Given the description of an element on the screen output the (x, y) to click on. 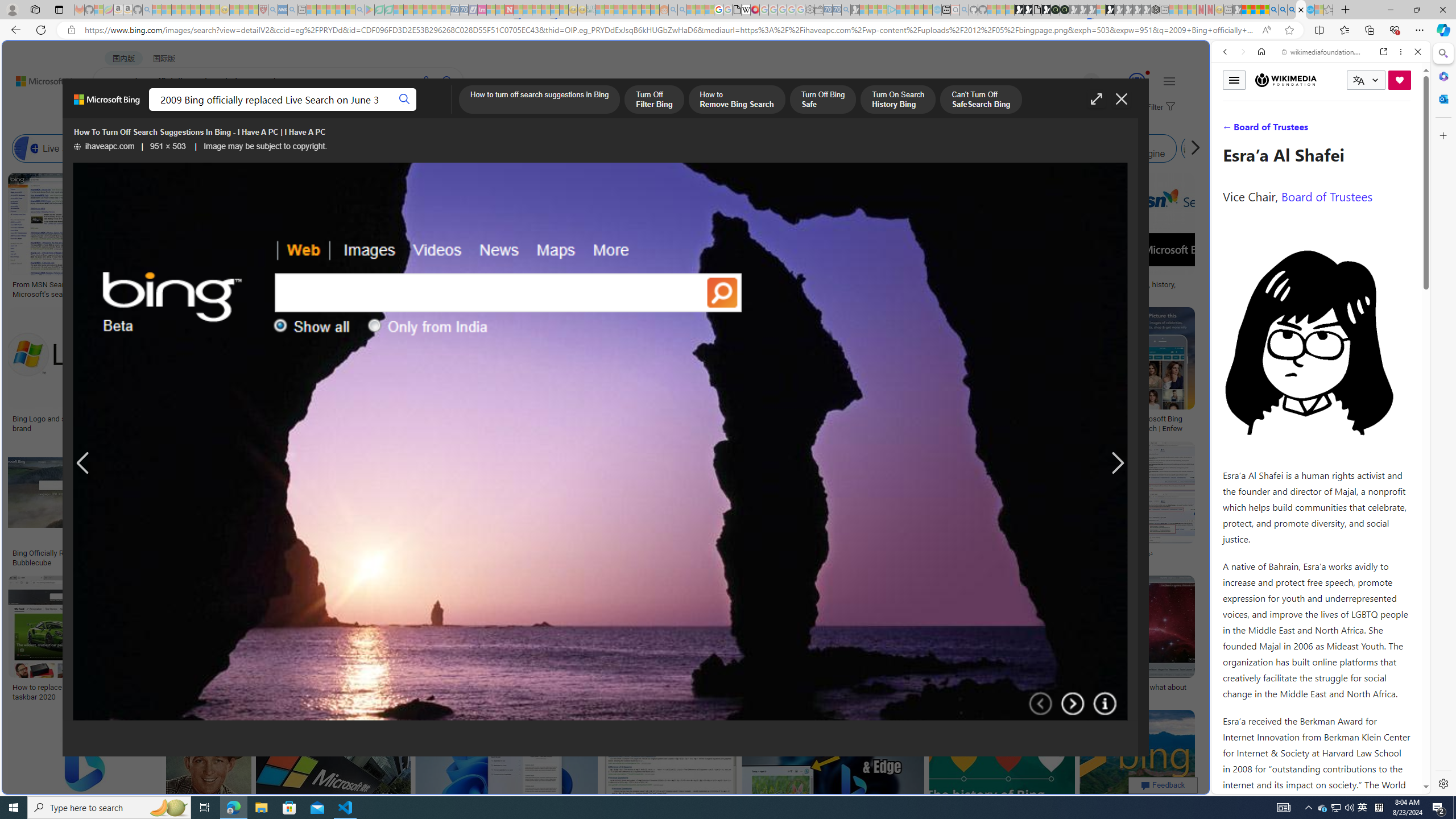
Next image result (1117, 463)
Bing Ai Search Engine Powered (536, 148)
Close image (1121, 99)
Donate now (1399, 80)
VIDEOS (310, 111)
Search using voice (426, 80)
utah sues federal government - Search (922, 389)
